Given the description of an element on the screen output the (x, y) to click on. 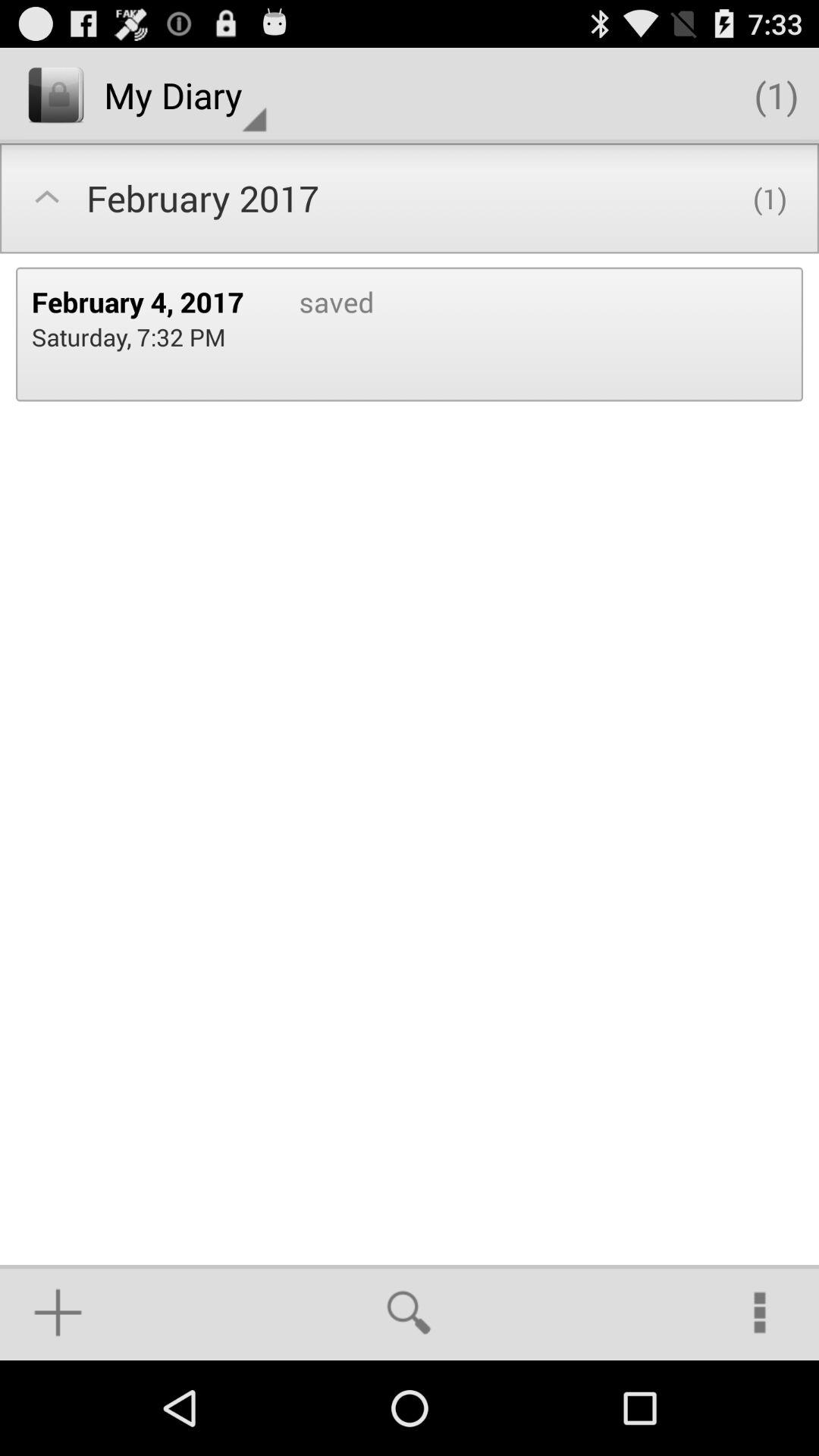
launch item at the bottom right corner (759, 1312)
